Given the description of an element on the screen output the (x, y) to click on. 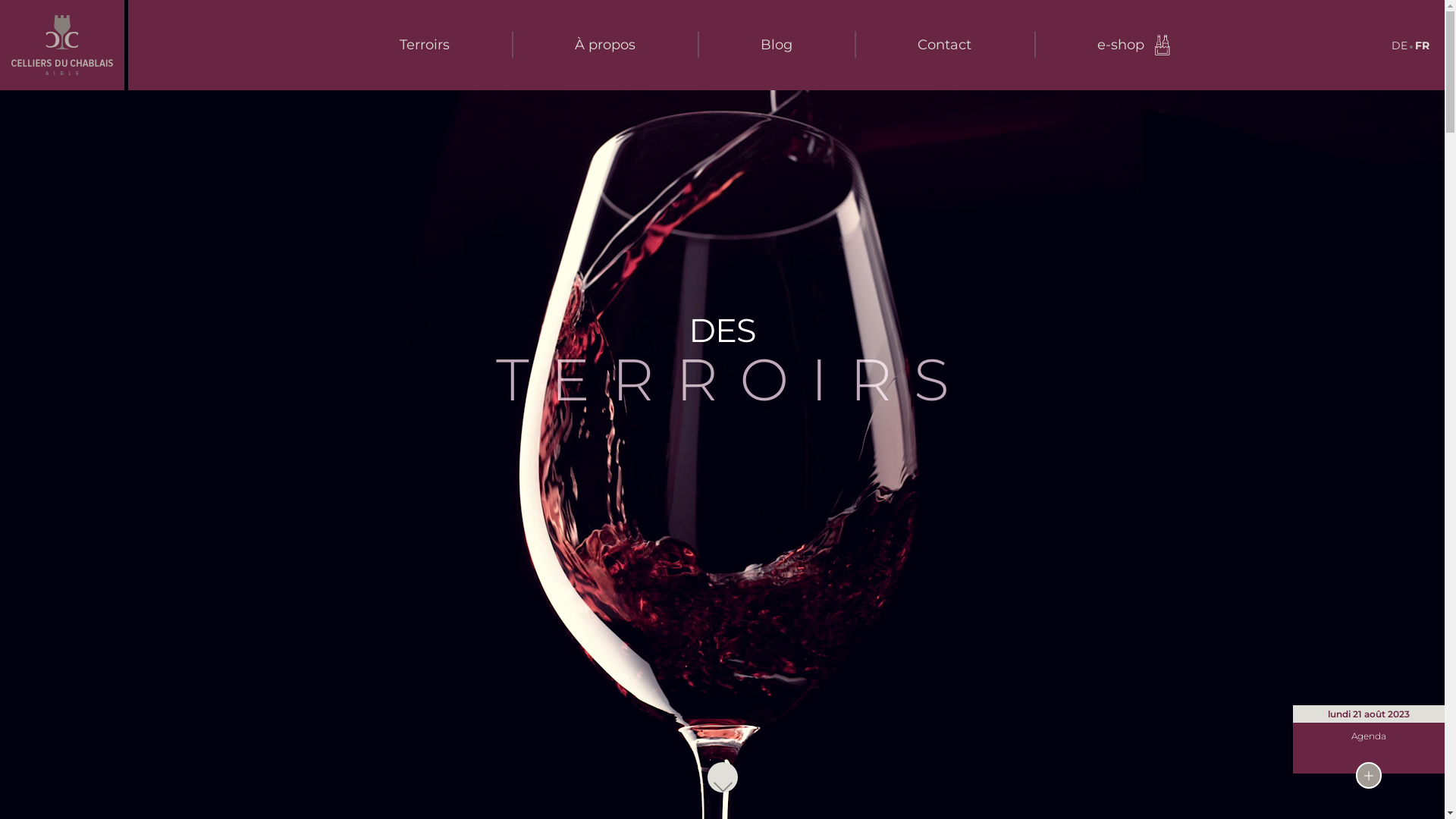
FR Element type: text (1422, 45)
DE Element type: text (1399, 45)
Blog Element type: text (776, 45)
e-shop Element type: text (1134, 45)
Agenda Element type: text (1368, 735)
Contact Element type: text (944, 45)
